Given the description of an element on the screen output the (x, y) to click on. 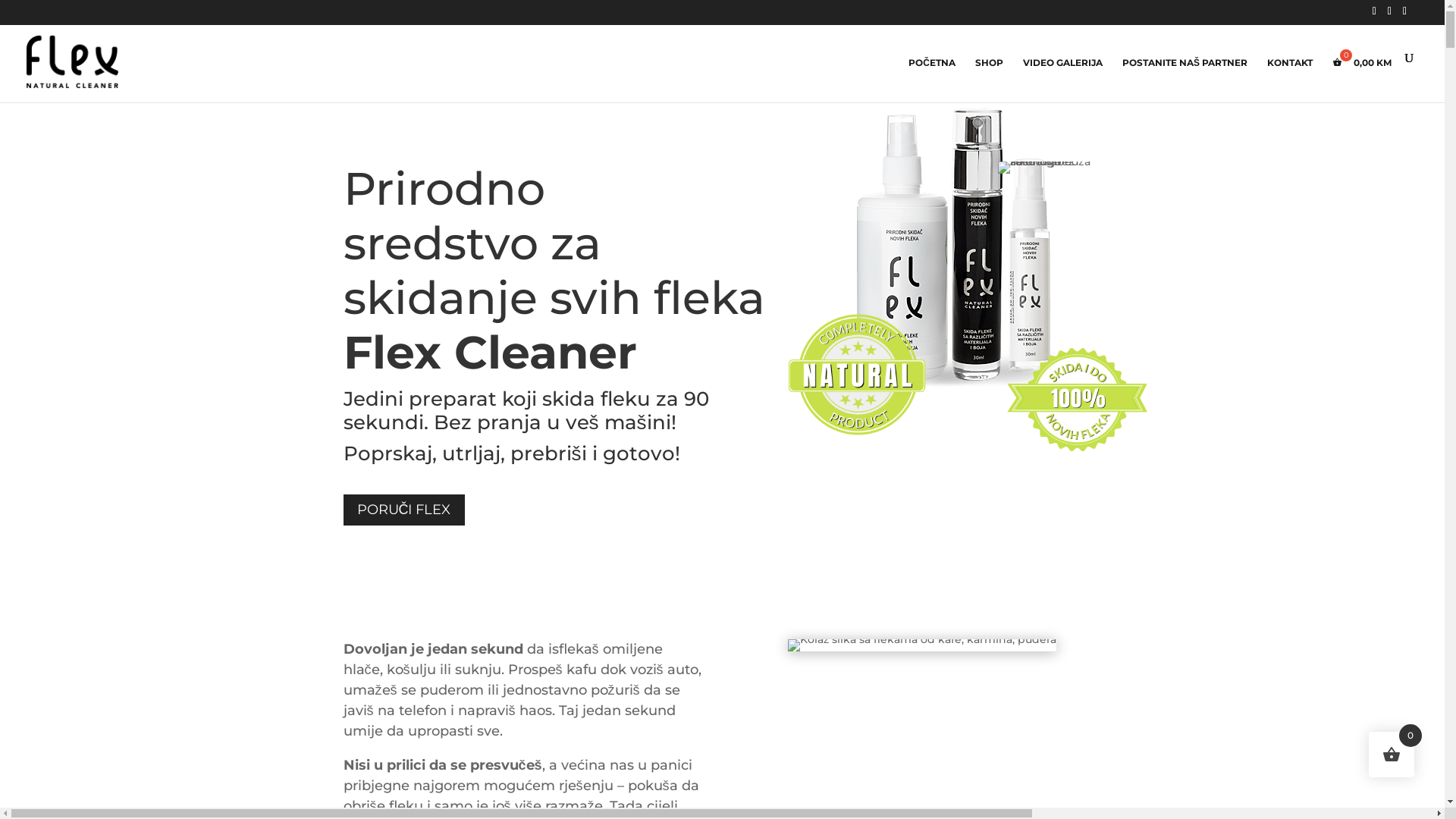
Prirodno-Sredstvo-za-uklanjanje-fleka-flex-cleaner Element type: hover (962, 229)
Flex Cleaner - Prirodno Uklanjanje Fleka Element type: hover (921, 645)
natural-500-x-500 Element type: hover (857, 370)
KONTAKT Element type: text (1289, 78)
New Project Element type: hover (1077, 399)
SHOP Element type: text (989, 78)
0,00 KM Element type: text (1361, 78)
VIDEO GALERIJA Element type: text (1062, 78)
Alcohol Free - Flex Cleaner Element type: hover (1049, 167)
